Given the description of an element on the screen output the (x, y) to click on. 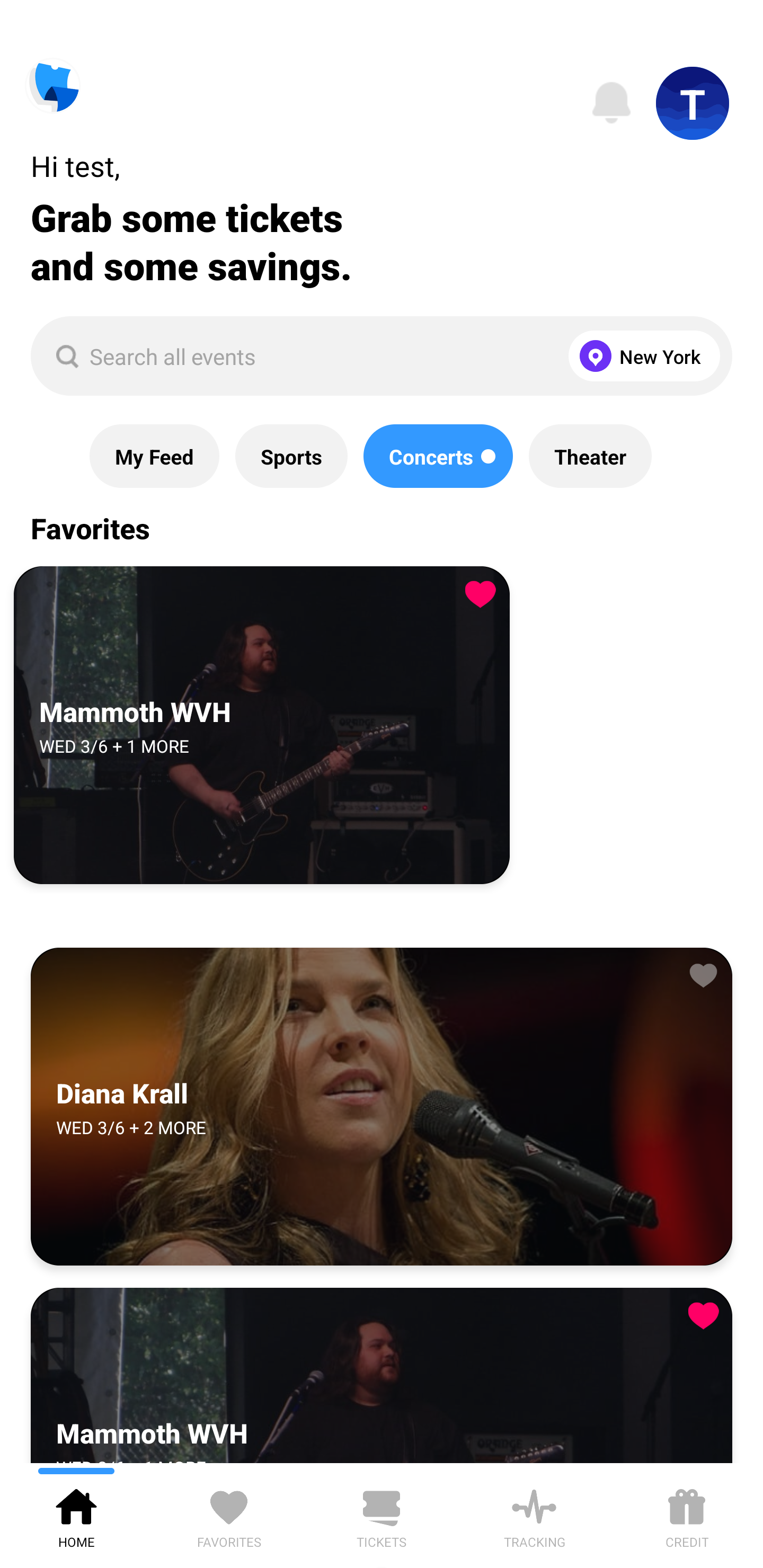
T (692, 103)
New York (640, 355)
My Feed (154, 455)
Sports (291, 455)
Concerts (437, 455)
Theater (589, 455)
HOME (76, 1515)
FAVORITES (228, 1515)
TICKETS (381, 1515)
TRACKING (533, 1515)
CREDIT (686, 1515)
